Given the description of an element on the screen output the (x, y) to click on. 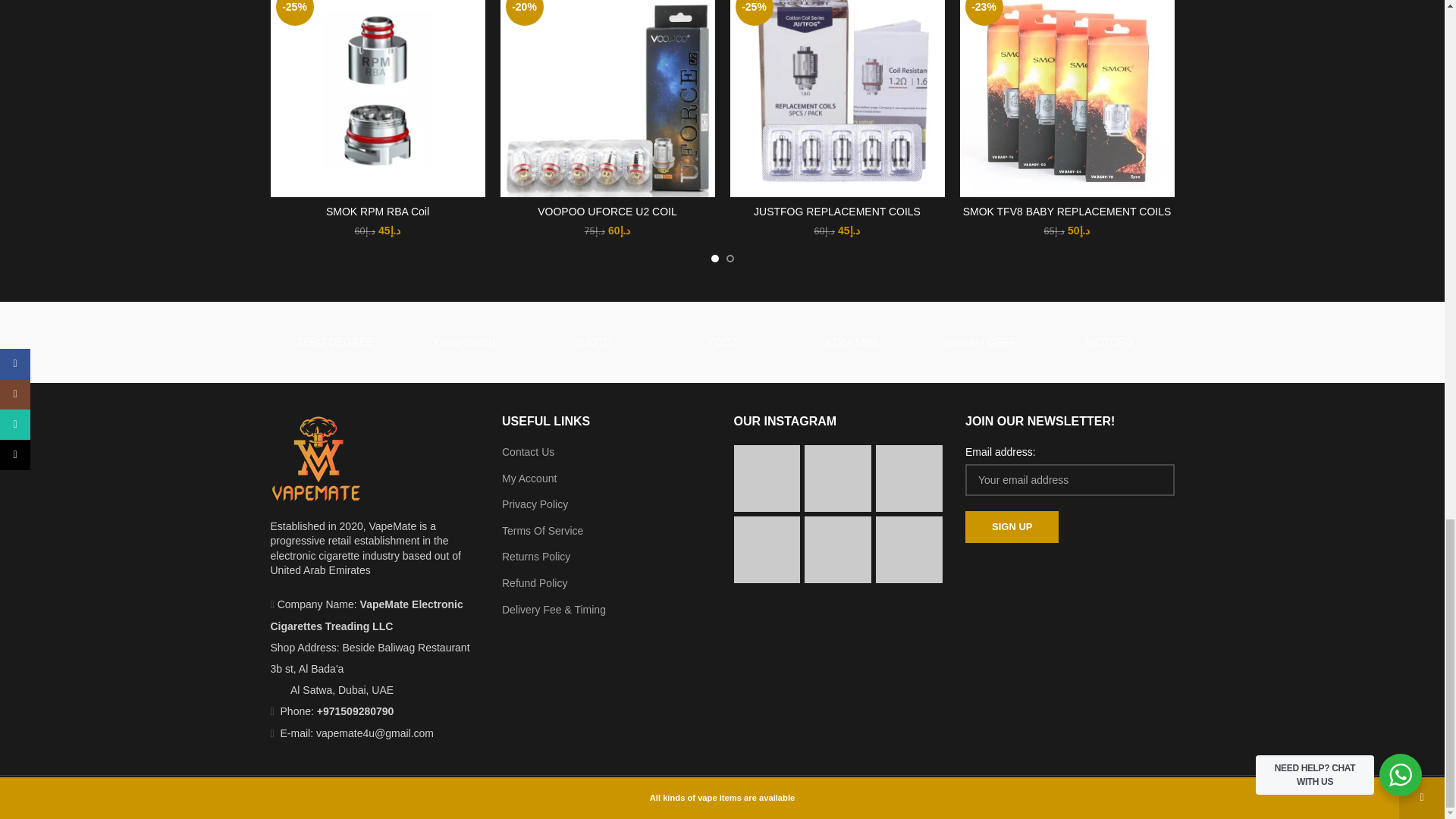
Sign up (1011, 526)
